Given the description of an element on the screen output the (x, y) to click on. 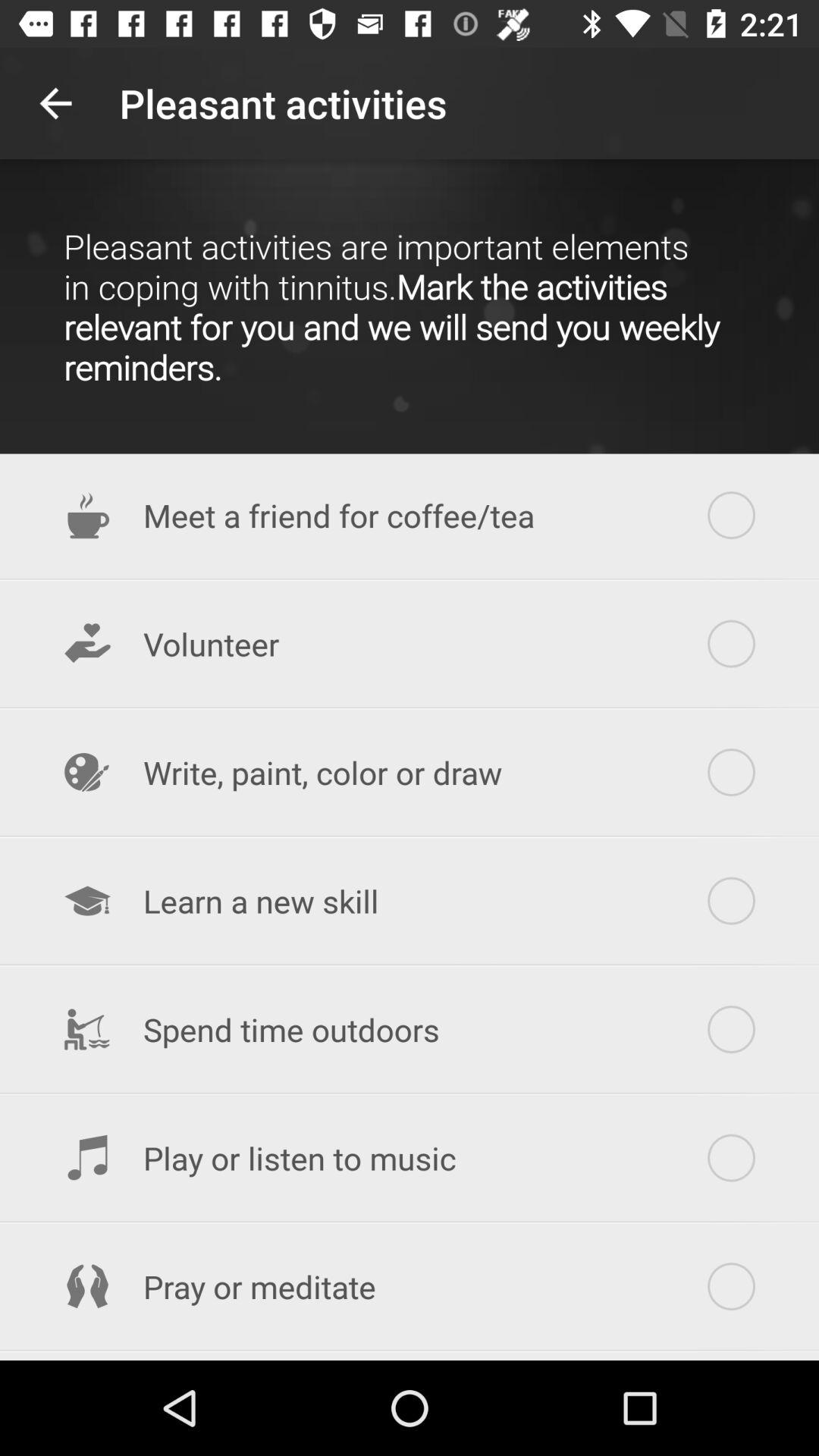
tap the spend time outdoors item (409, 1029)
